Given the description of an element on the screen output the (x, y) to click on. 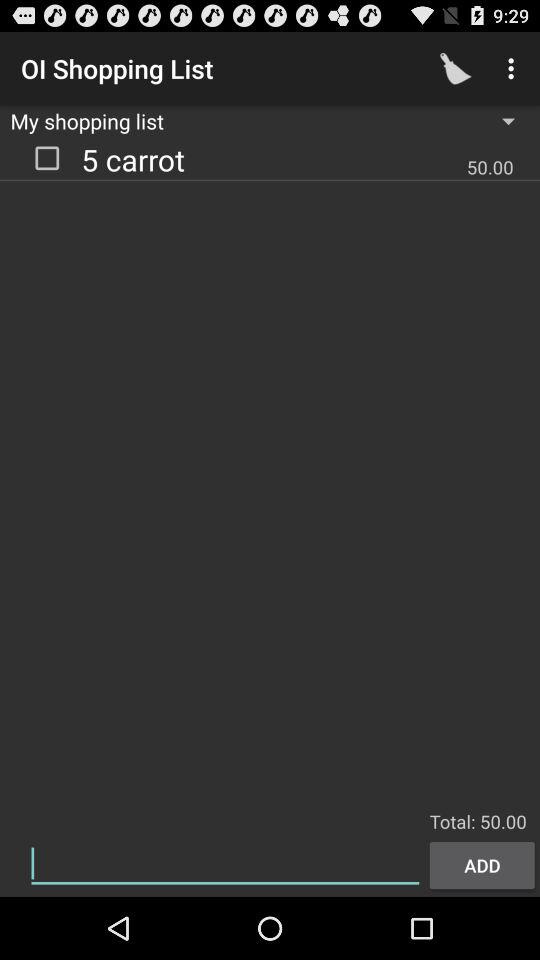
checkbox button (47, 157)
